Given the description of an element on the screen output the (x, y) to click on. 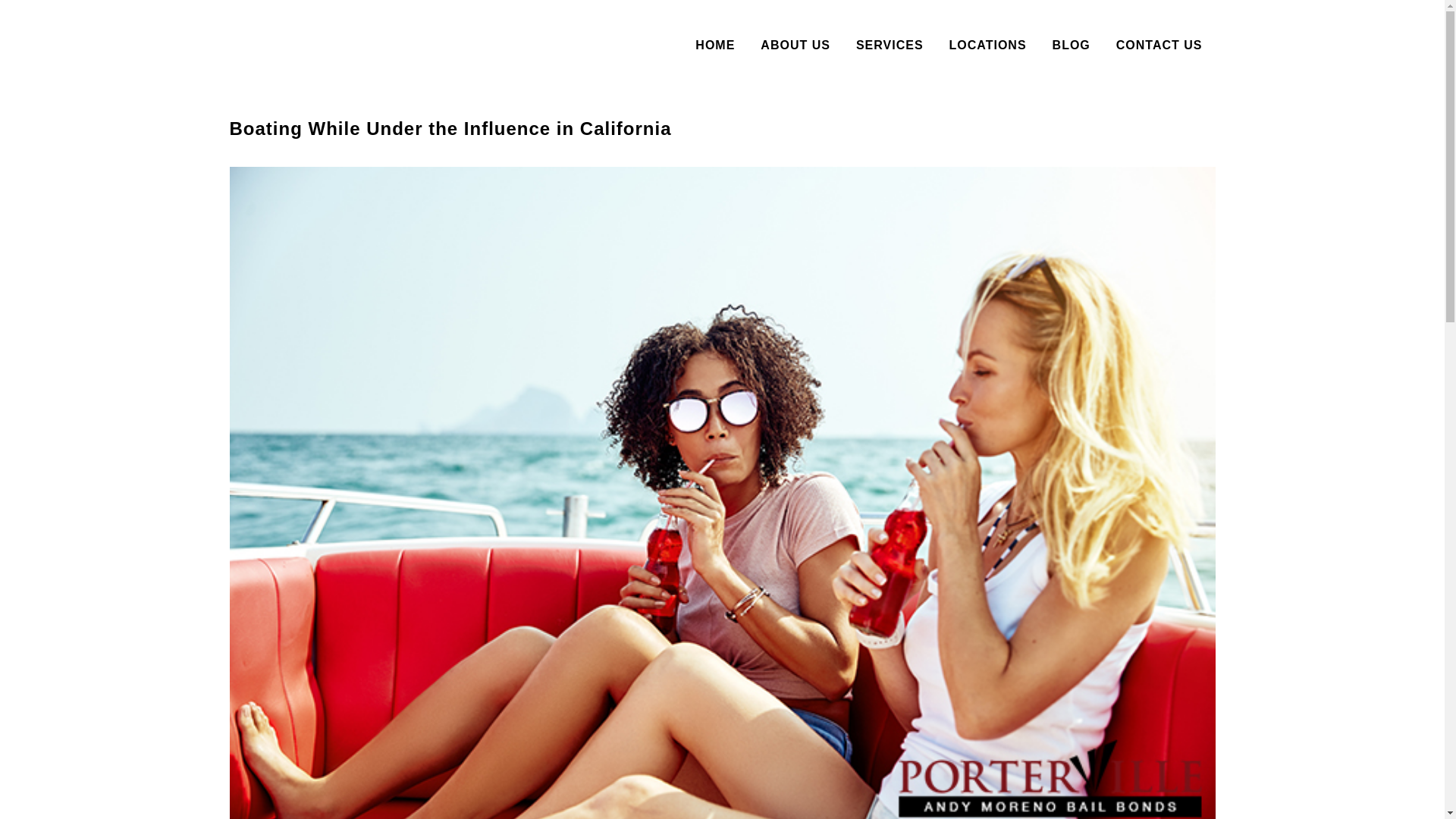
SERVICES (889, 45)
ABOUT US (795, 45)
CONTACT US (1159, 45)
LOCATIONS (987, 45)
